Given the description of an element on the screen output the (x, y) to click on. 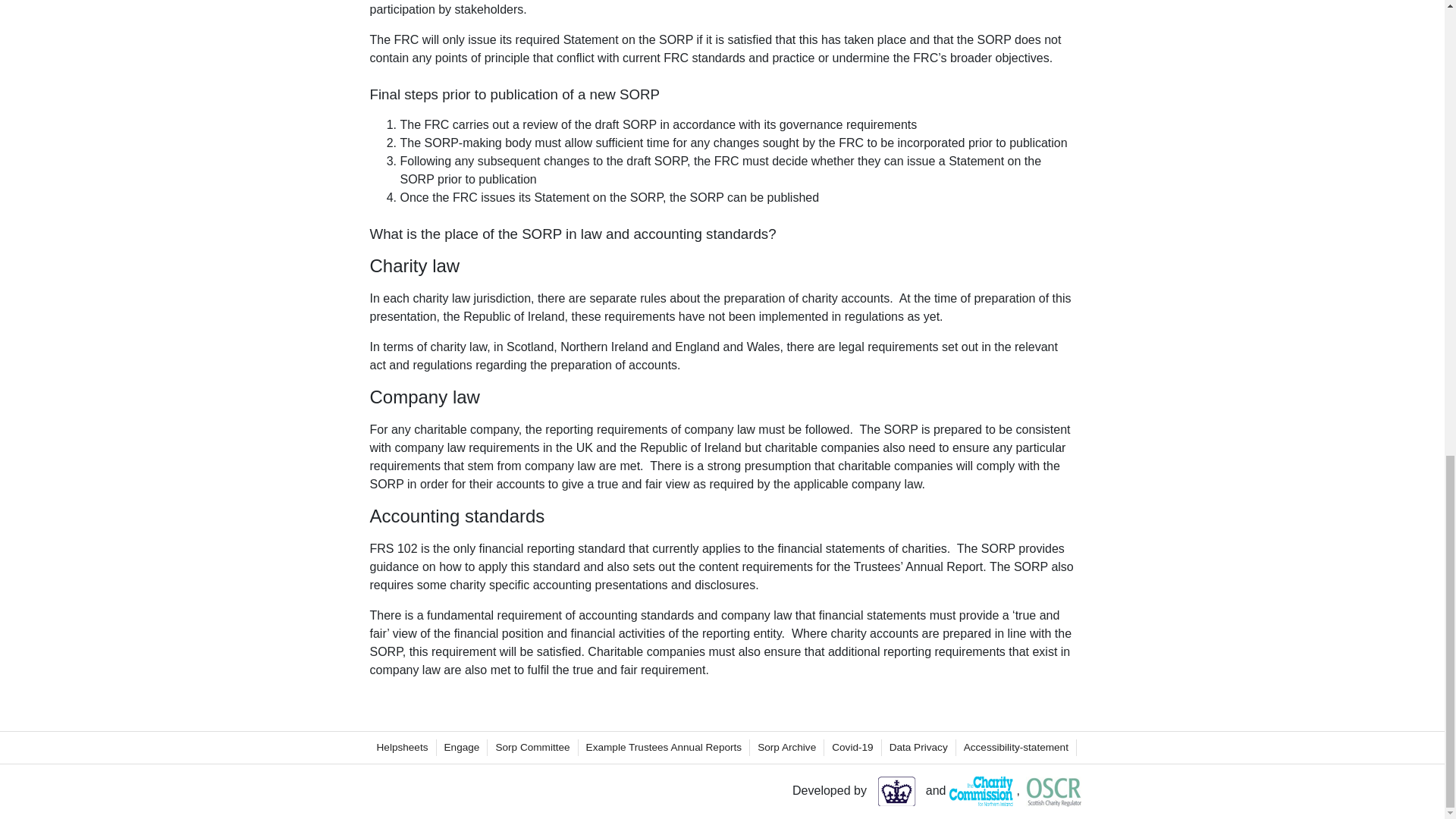
Covid-19 (851, 747)
Helpsheets (401, 747)
Engage (462, 747)
Example Trustees Annual Reports (664, 747)
Accessibility-statement (1015, 747)
Sorp Archive (786, 747)
Data Privacy (918, 747)
Sorp Committee (532, 747)
